Given the description of an element on the screen output the (x, y) to click on. 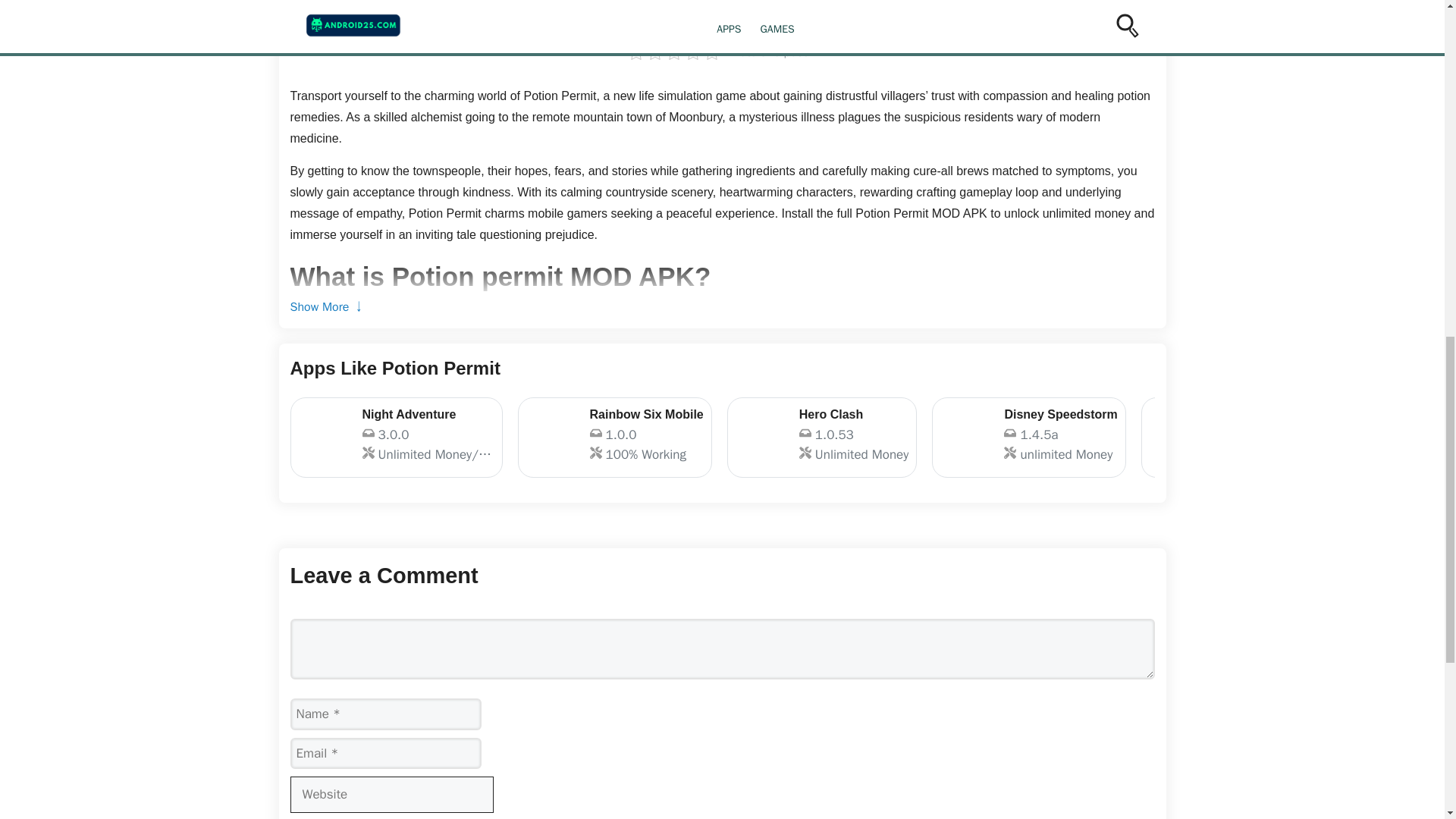
Little Nightmares (1028, 437)
Hero Clash (1247, 437)
Disney Speedstorm (821, 437)
Rainbow Six Mobile  (1028, 437)
Night Adventure  (821, 437)
